Given the description of an element on the screen output the (x, y) to click on. 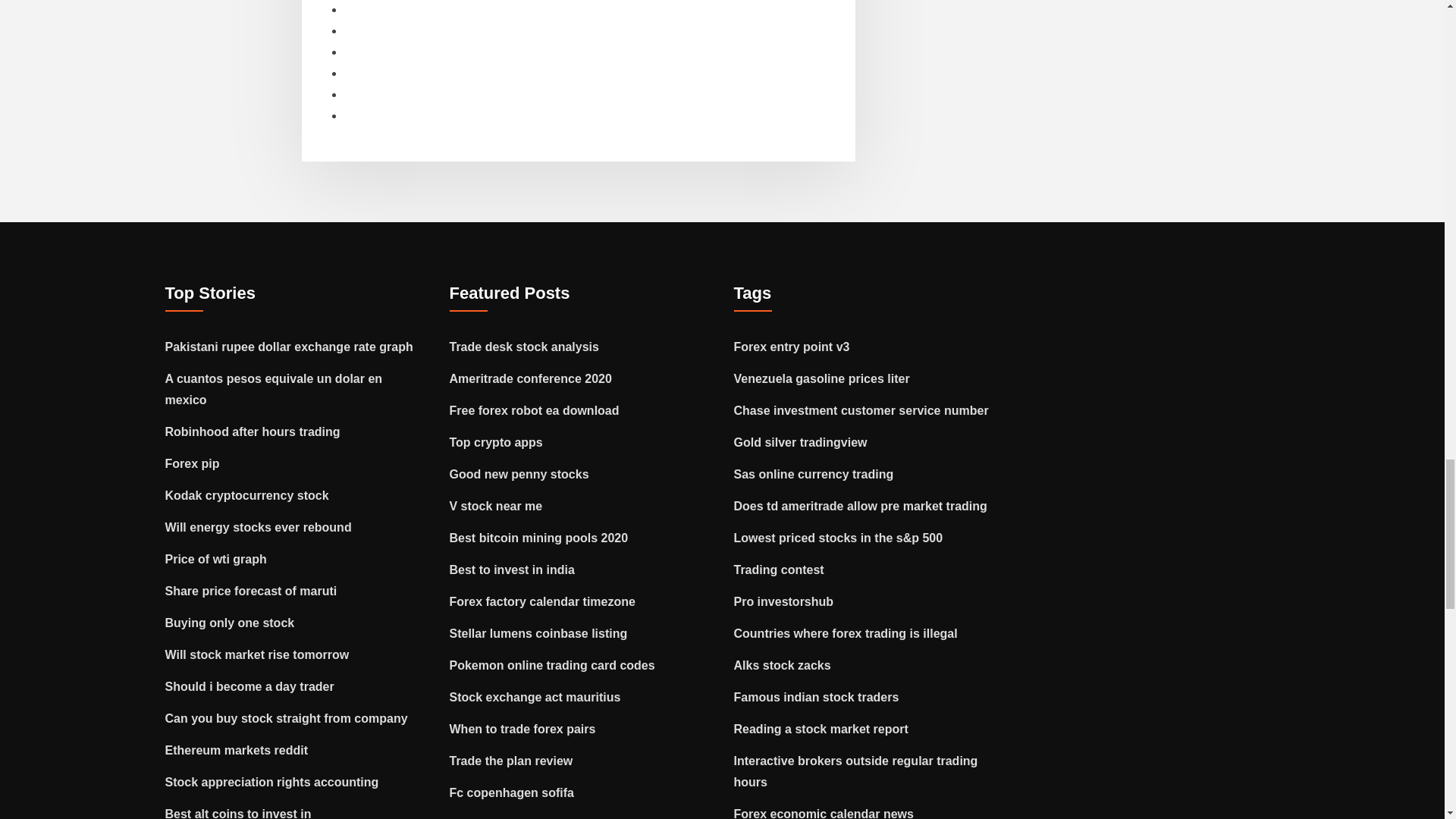
Buying only one stock (230, 622)
Should i become a day trader (249, 686)
A cuantos pesos equivale un dolar en mexico (273, 389)
Will stock market rise tomorrow (257, 654)
Stock appreciation rights accounting (271, 781)
Price of wti graph (215, 558)
Best alt coins to invest in (238, 813)
Robinhood after hours trading (252, 431)
Forex pip (192, 463)
Pakistani rupee dollar exchange rate graph (289, 346)
Kodak cryptocurrency stock (247, 495)
Ethereum markets reddit (236, 749)
Share price forecast of maruti (251, 590)
Can you buy stock straight from company (286, 717)
Will energy stocks ever rebound (258, 526)
